Given the description of an element on the screen output the (x, y) to click on. 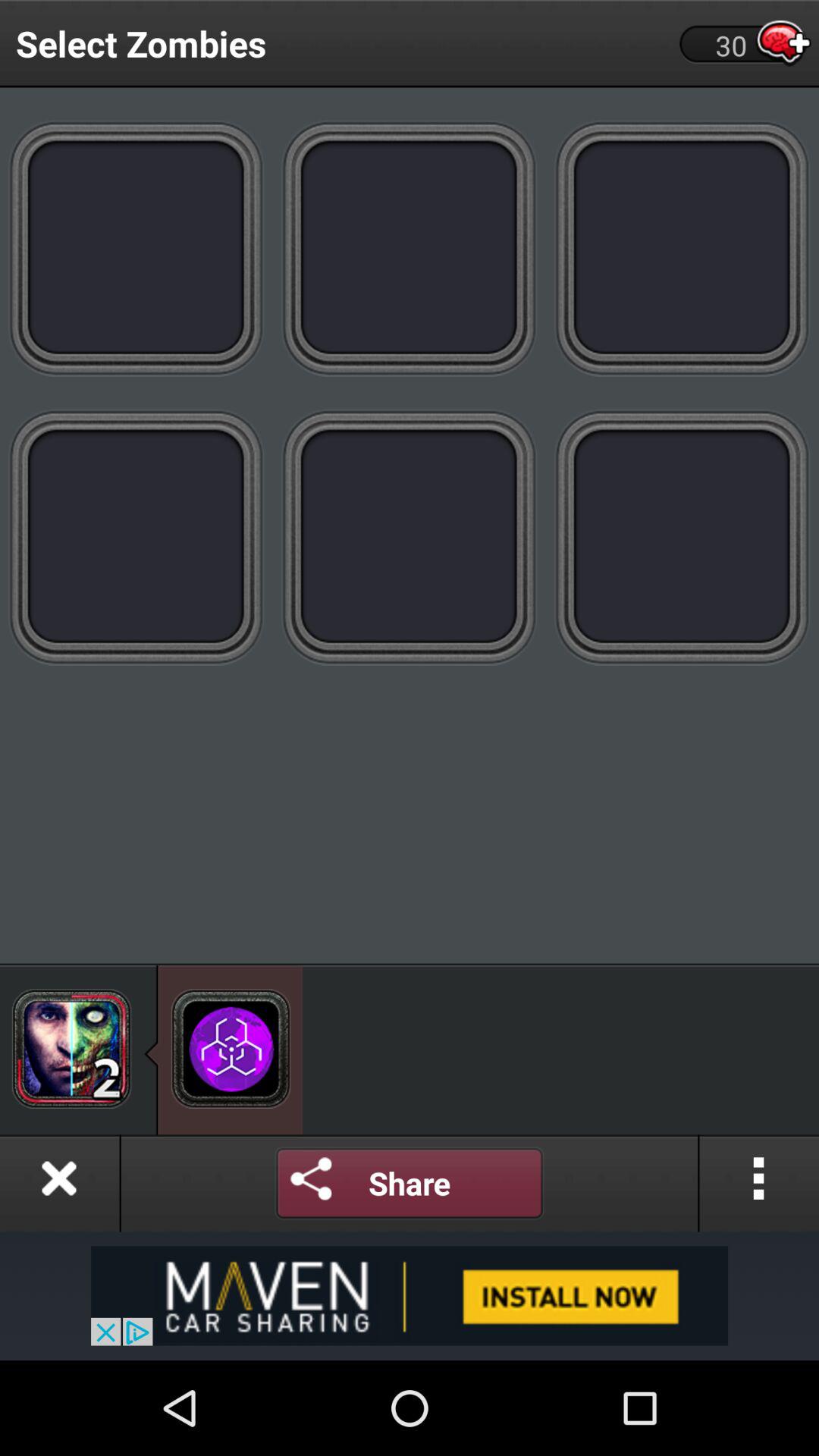
open options menu (759, 1182)
